Given the description of an element on the screen output the (x, y) to click on. 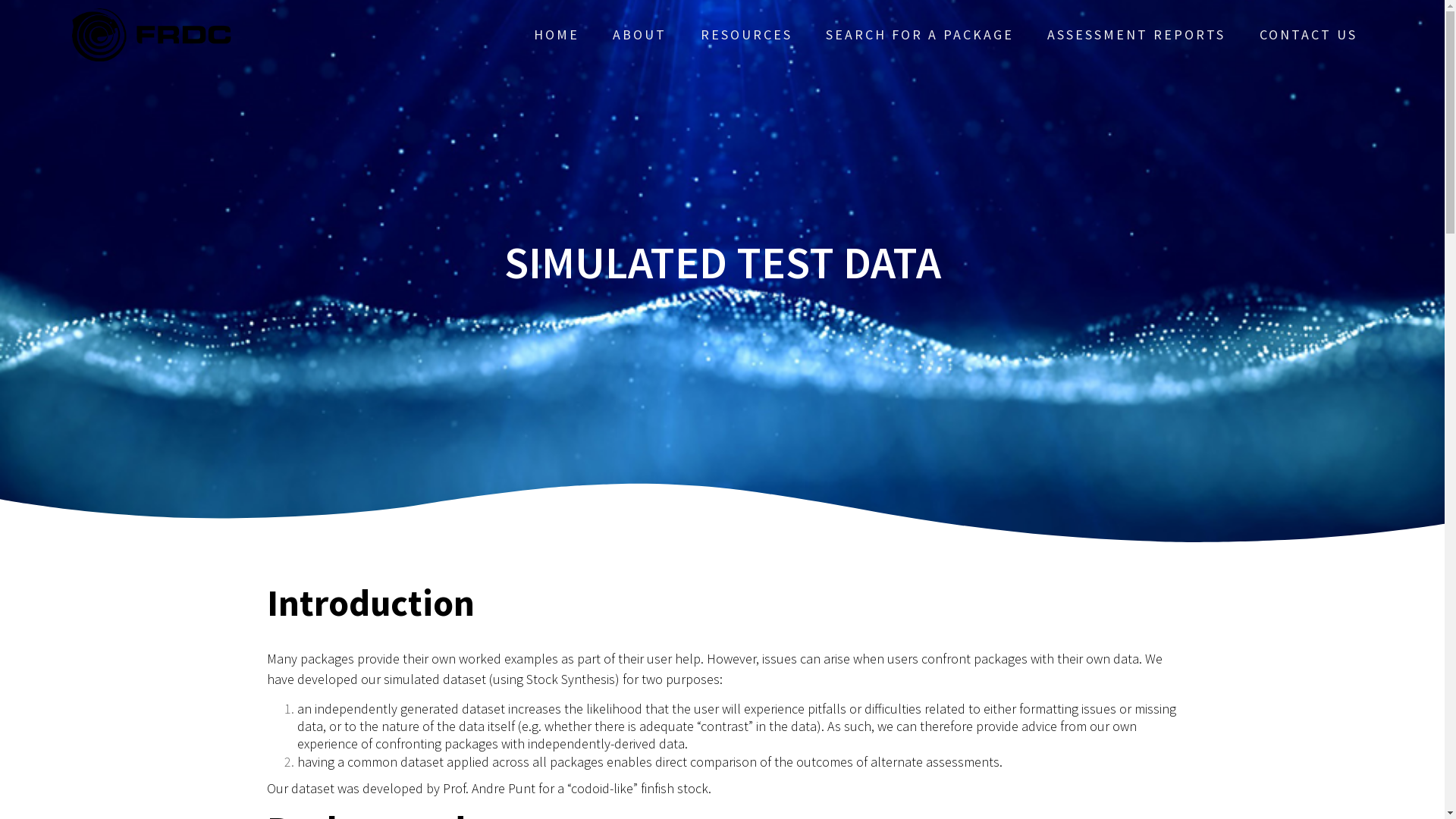
ABOUT Element type: text (639, 34)
HOME Element type: text (556, 34)
CONTACT US Element type: text (1308, 34)
ASSESSMENT REPORTS Element type: text (1136, 34)
SEARCH FOR A PACKAGE Element type: text (919, 34)
RESOURCES Element type: text (746, 34)
